Given the description of an element on the screen output the (x, y) to click on. 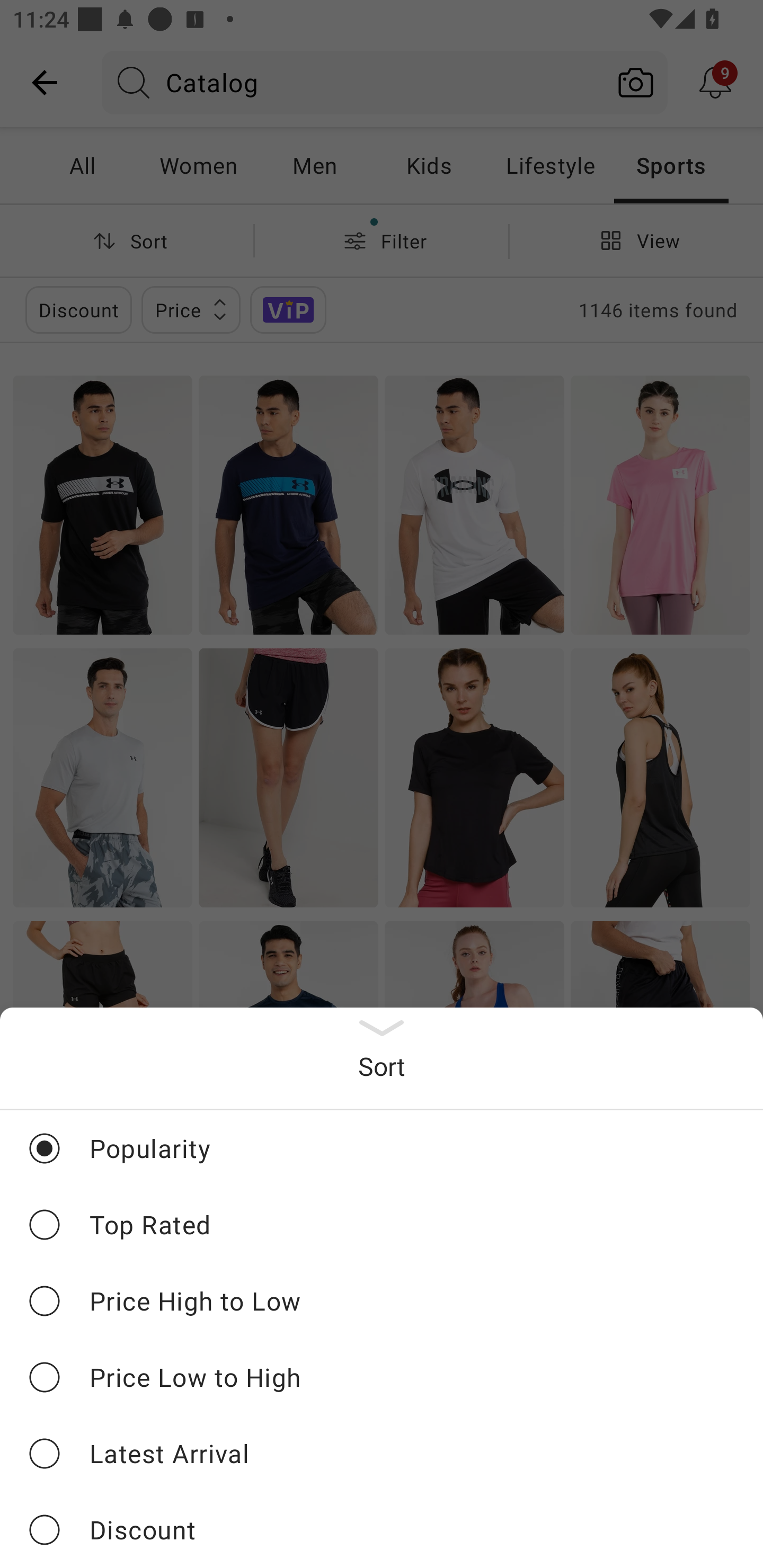
Popularity (381, 1148)
Top Rated (381, 1224)
Price High to Low (381, 1300)
Price Low to High (381, 1377)
Latest Arrival (381, 1453)
Discount (381, 1529)
